Given the description of an element on the screen output the (x, y) to click on. 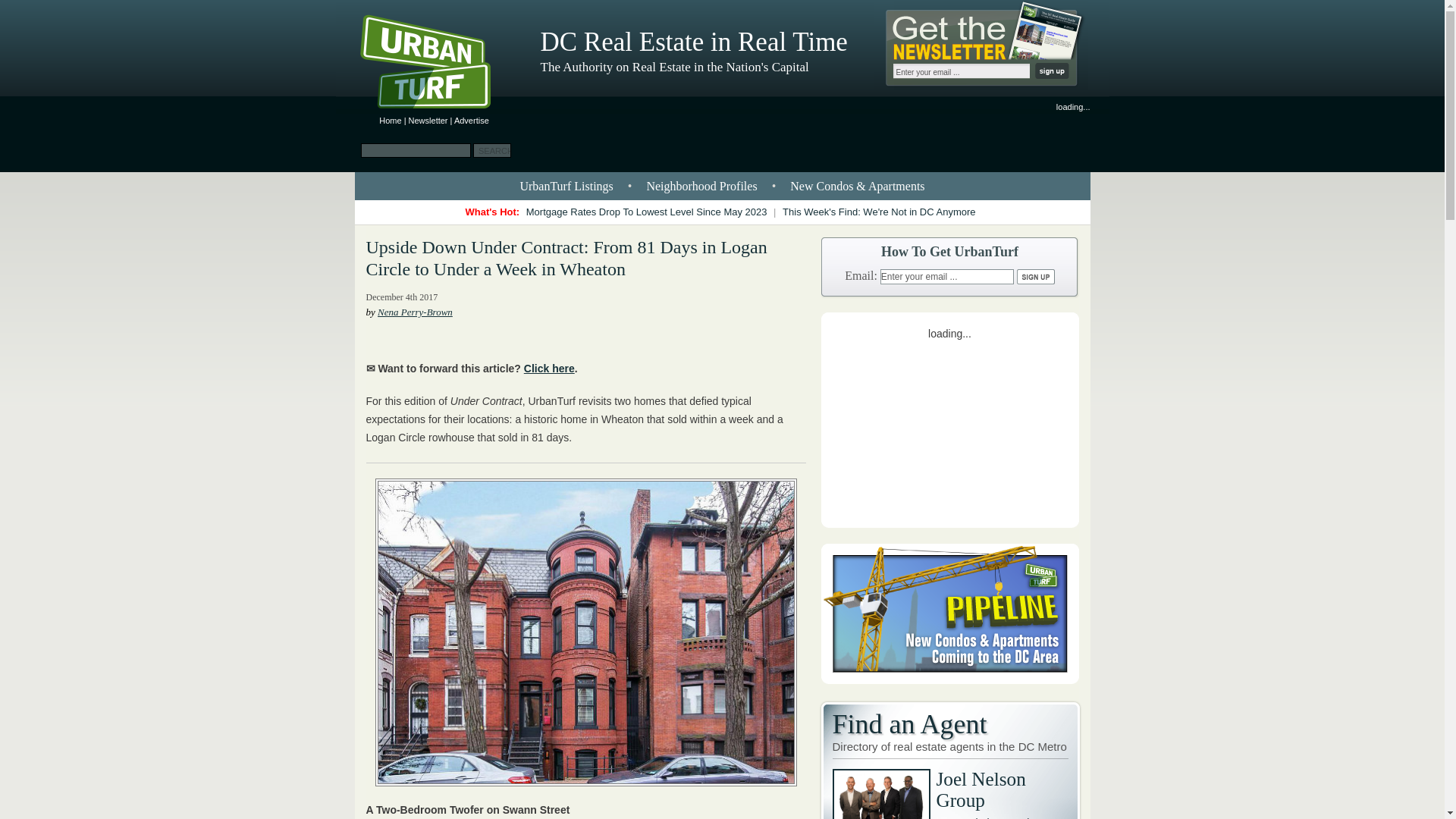
Enter your email ... (946, 276)
Permalink (566, 258)
UrbanTurf Listings (566, 185)
UrbanTurf (389, 120)
UrbanTurf Newsletter (428, 120)
Enter your email ... (960, 70)
Mortgage Rates Drop To Lowest Level Since May 2023 (646, 211)
Search (492, 150)
UrbanTurf Pipeline (949, 680)
